Given the description of an element on the screen output the (x, y) to click on. 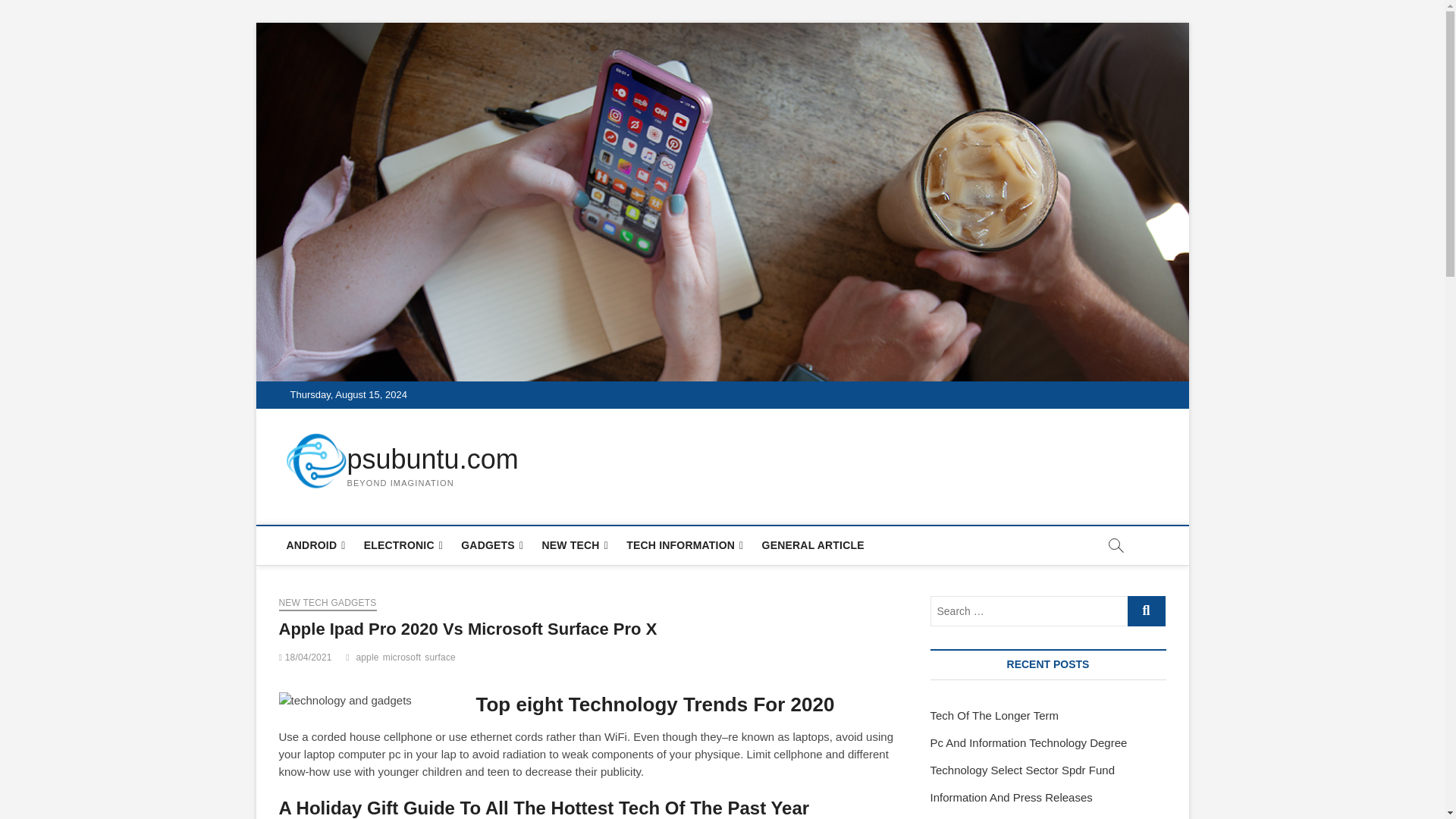
GADGETS (491, 545)
apple (368, 658)
ANDROID (316, 545)
ELECTRONIC (402, 545)
NEW TECH GADGETS (328, 603)
psubuntu.com (432, 459)
psubuntu.com (432, 459)
GENERAL ARTICLE (813, 545)
NEW TECH (574, 545)
